Given the description of an element on the screen output the (x, y) to click on. 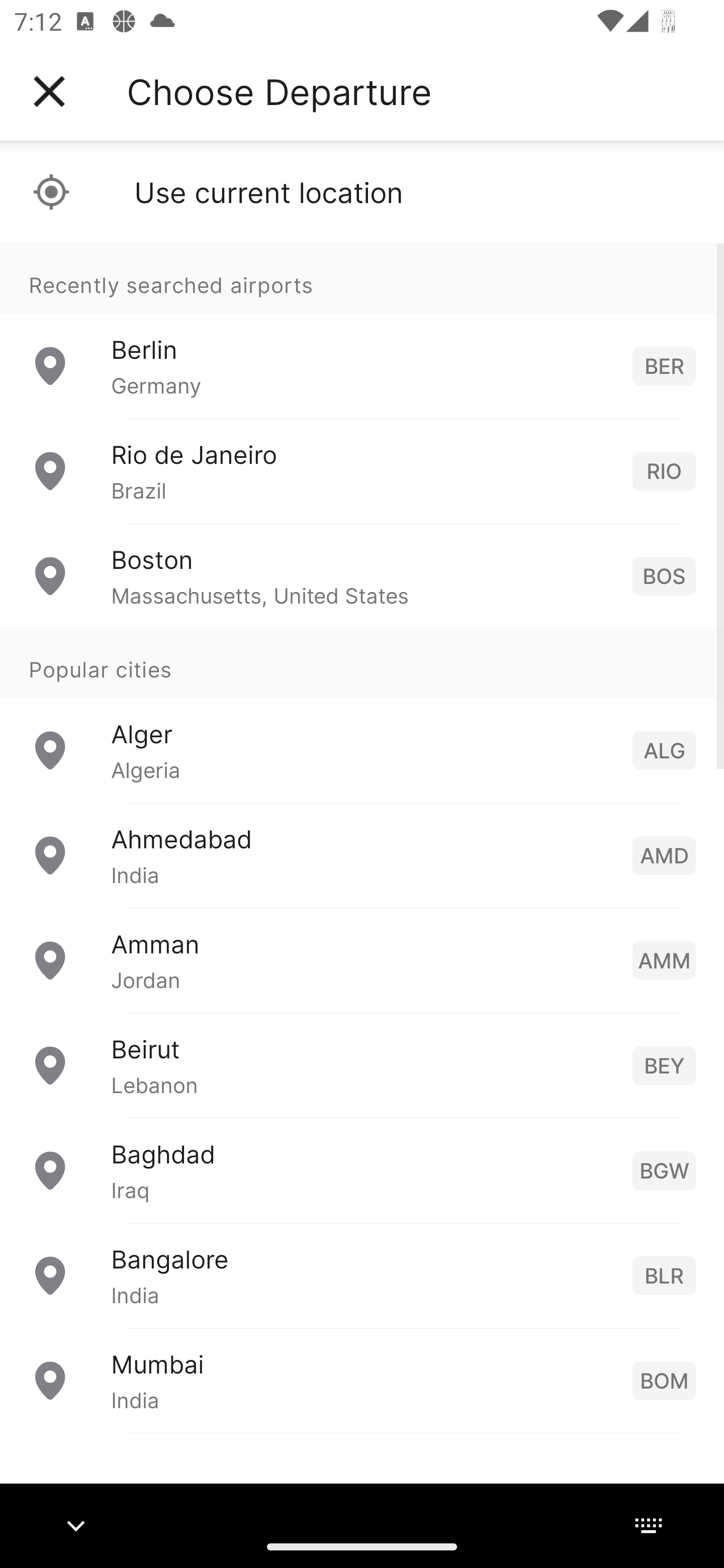
Choose Departure (279, 91)
Use current location (362, 192)
Recently searched airports Berlin Germany BER (362, 330)
Recently searched airports (362, 278)
Rio de Janeiro Brazil RIO (362, 470)
Boston Massachusetts, United States BOS (362, 575)
Popular cities Alger Algeria ALG (362, 715)
Popular cities (362, 663)
Ahmedabad India AMD (362, 854)
Amman Jordan AMM (362, 959)
Beirut Lebanon BEY (362, 1064)
Baghdad Iraq BGW (362, 1170)
Bangalore India BLR (362, 1275)
Mumbai India BOM (362, 1380)
